Given the description of an element on the screen output the (x, y) to click on. 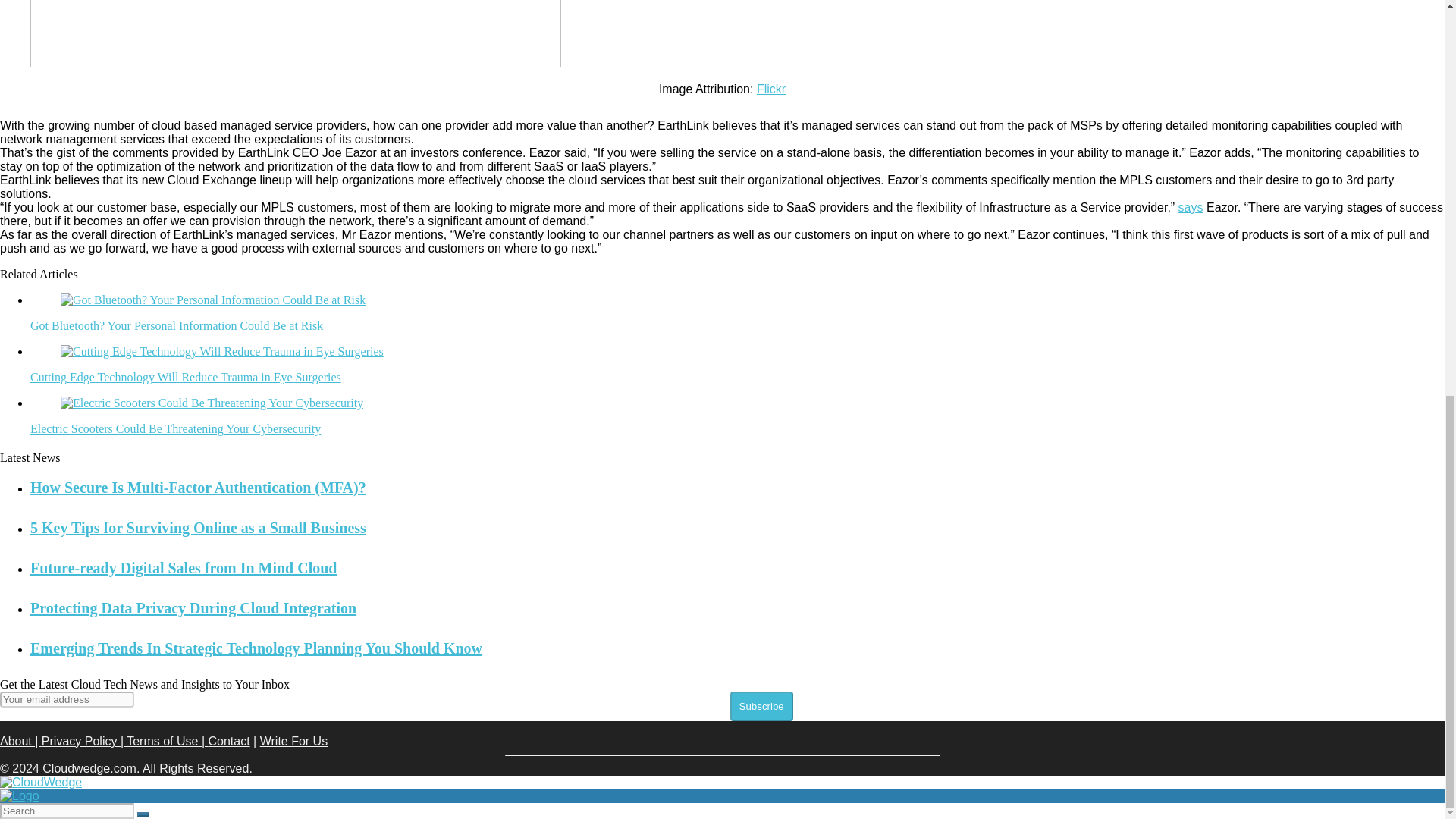
Future-ready Digital Sales from In Mind Cloud (183, 567)
Flickr (771, 88)
5 Key Tips for Surviving Online as a Small Business (198, 527)
says (1190, 206)
Protecting Data Privacy During Cloud Integration (193, 607)
Cutting Edge Technology Will Reduce Trauma in Eye Surgeries (185, 377)
Subscribe (760, 706)
Electric Scooters Could Be Threatening Your Cybersecurity (175, 428)
Got Bluetooth? Your Personal Information Could Be at Risk (176, 325)
Got Bluetooth? Your Personal Information Could Be at Risk (176, 325)
Electric Scooters Could Be Threatening Your Cybersecurity (175, 428)
Subscribe (760, 706)
Cutting Edge Technology Will Reduce Trauma in Eye Surgeries (185, 377)
